Given the description of an element on the screen output the (x, y) to click on. 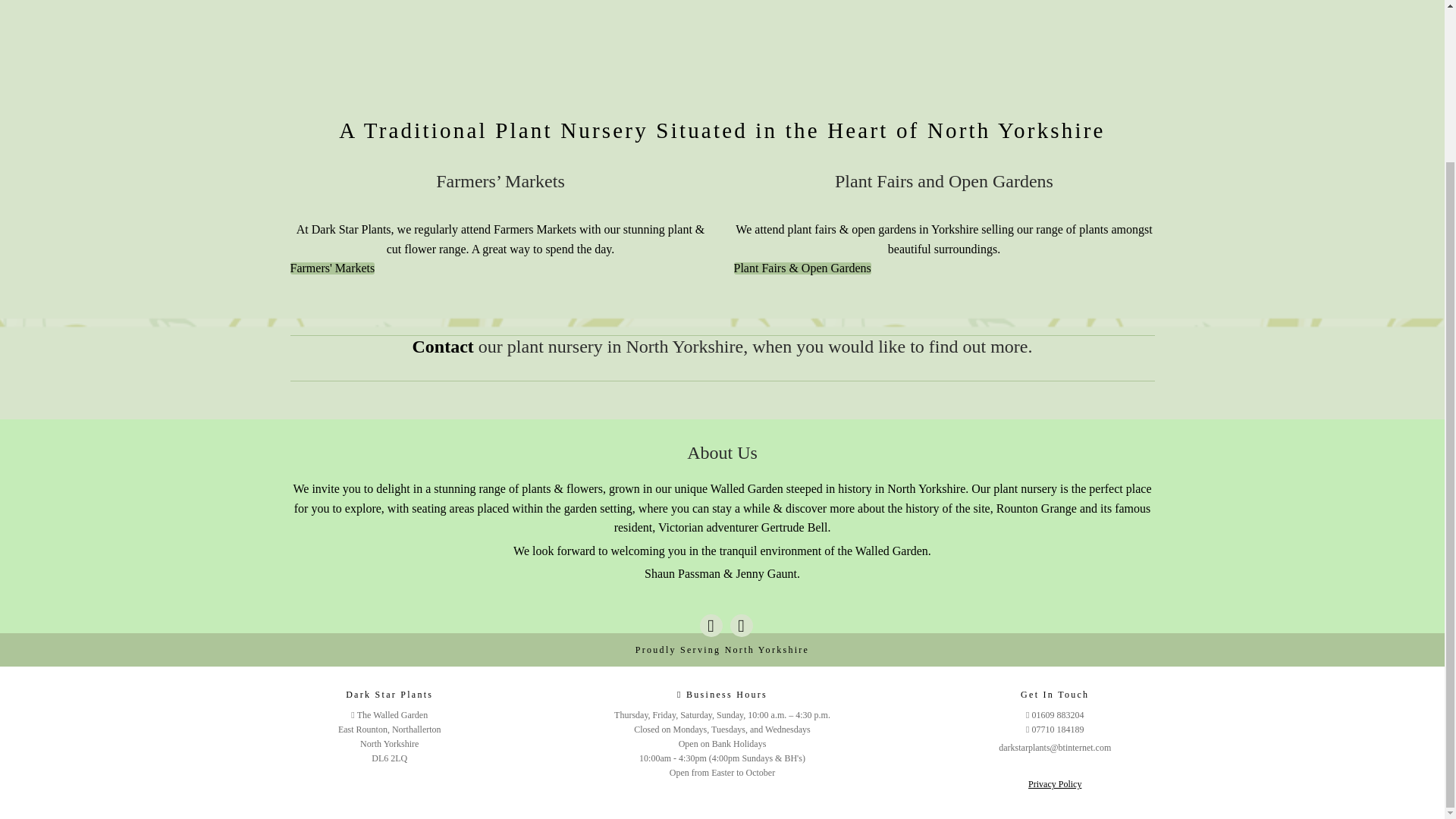
Instagram (740, 625)
Farmers' Markets (331, 268)
Contact (443, 346)
Farmers' Markets (331, 268)
Facebook (710, 625)
Privacy Policy (1054, 783)
